Given the description of an element on the screen output the (x, y) to click on. 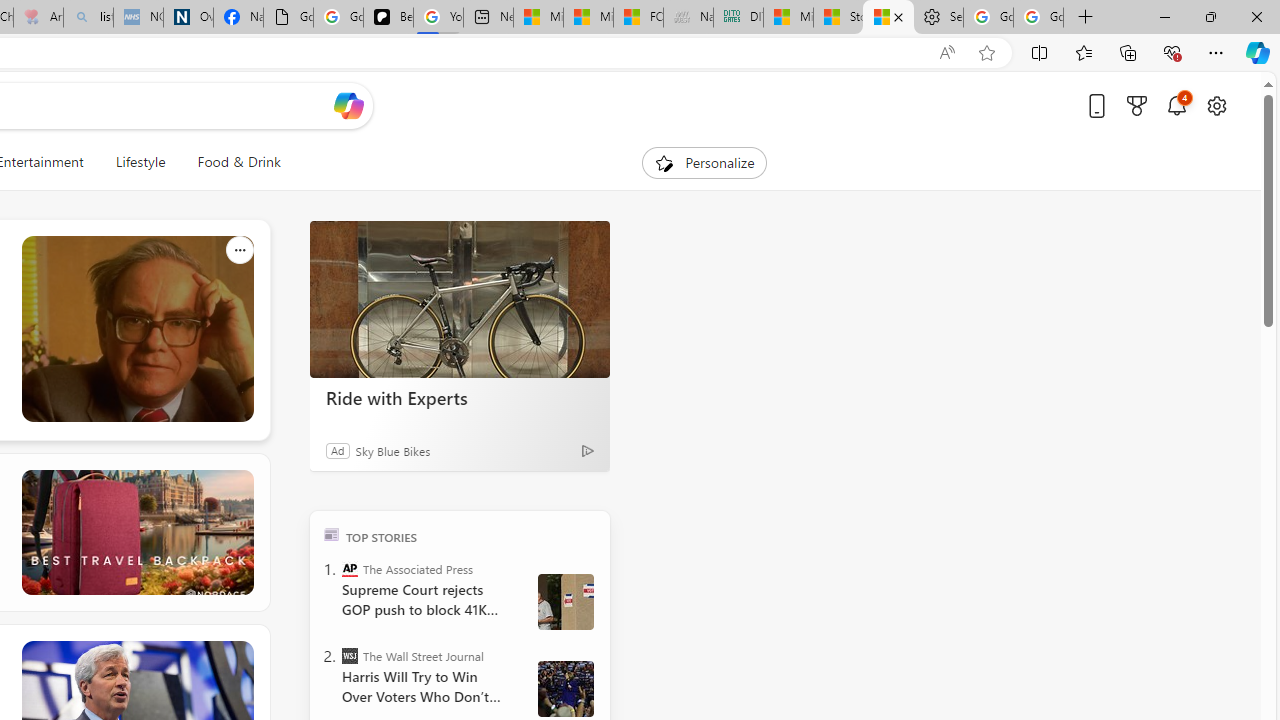
Google Analytics Opt-out Browser Add-on Download Page (288, 17)
TOP (331, 534)
Navy Quest (688, 17)
Open settings (1216, 105)
